Given the description of an element on the screen output the (x, y) to click on. 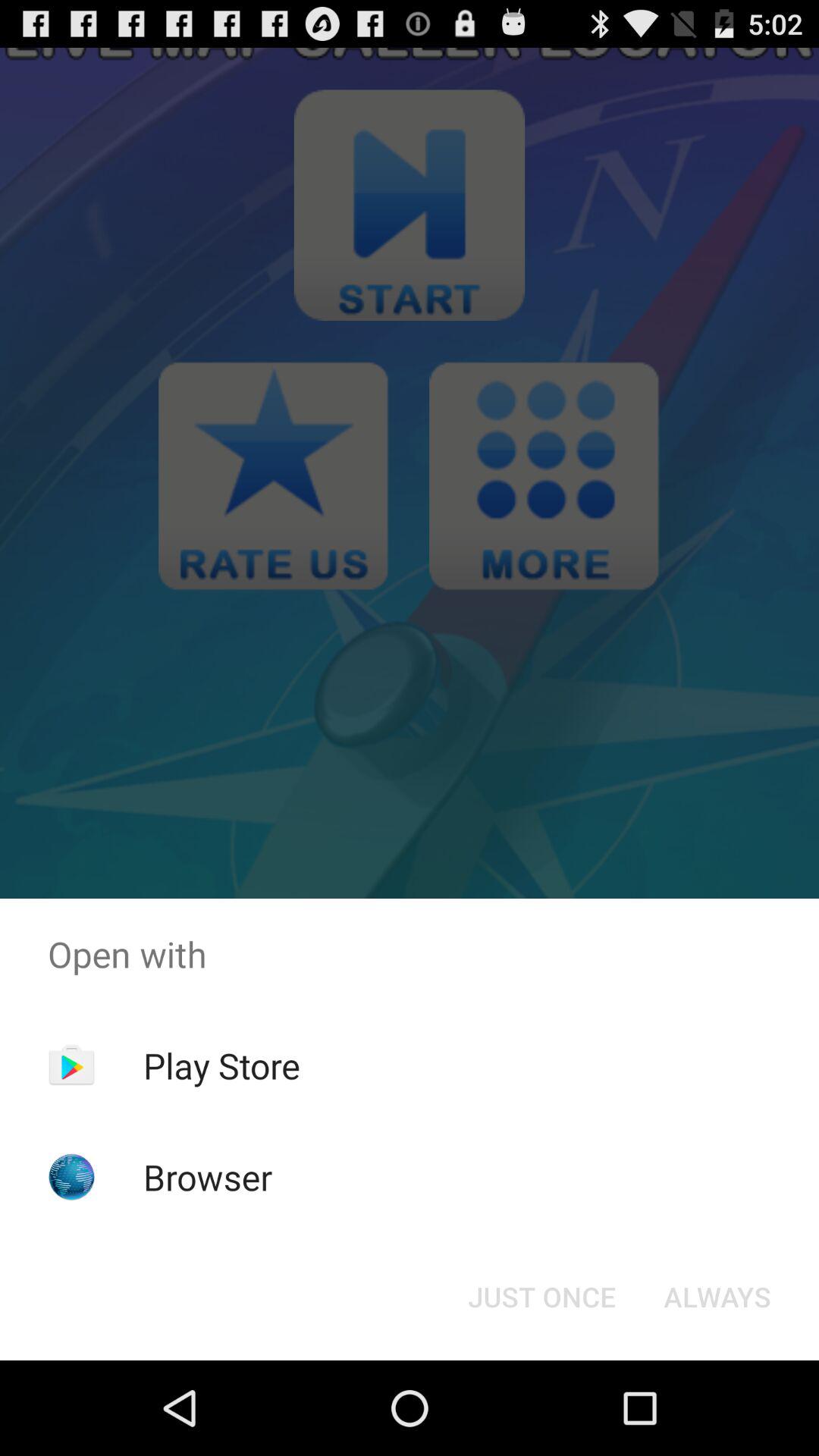
choose icon next to always item (541, 1296)
